Given the description of an element on the screen output the (x, y) to click on. 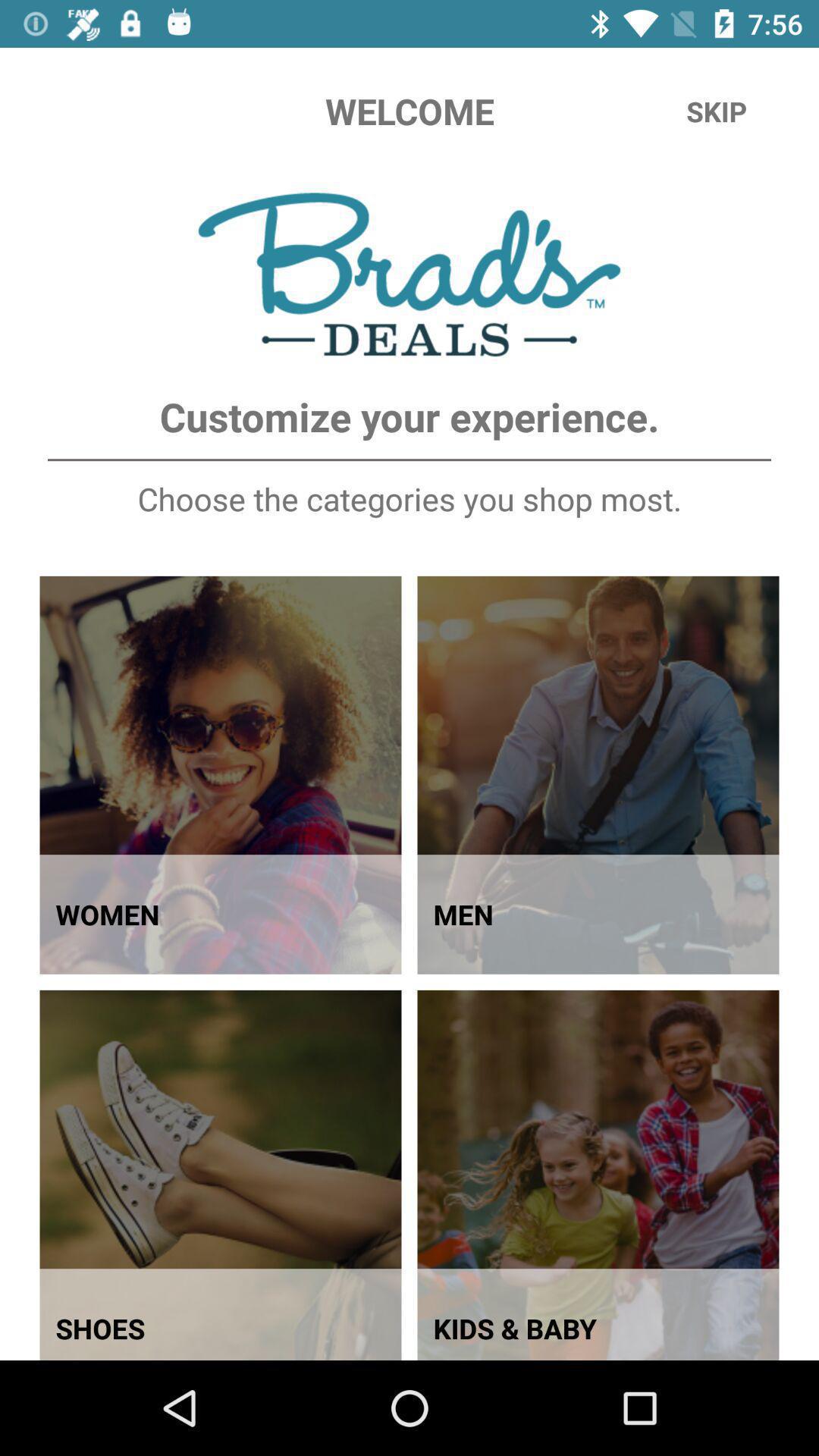
flip until the skip item (716, 111)
